Given the description of an element on the screen output the (x, y) to click on. 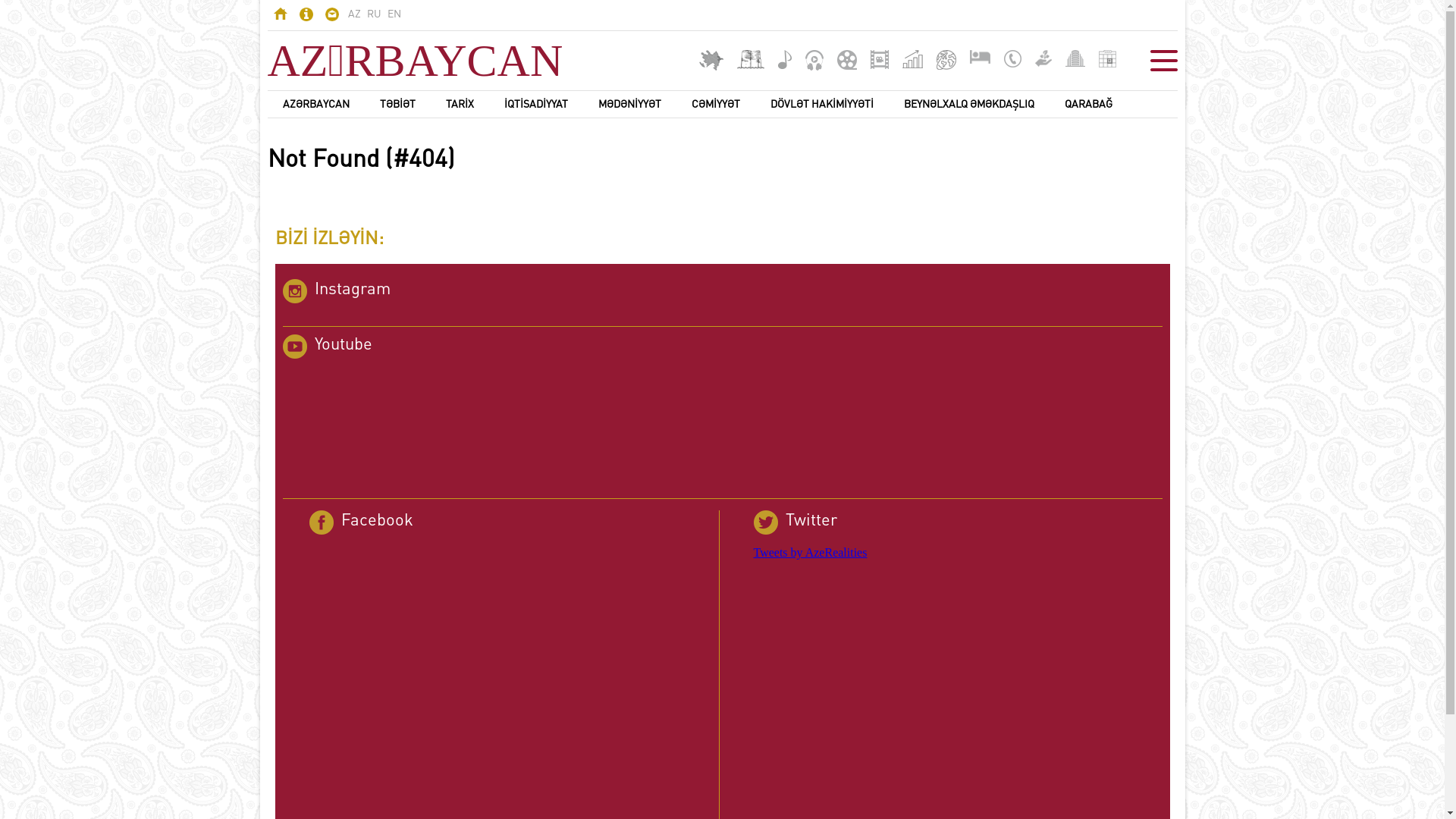
Mehmanxanalar Element type: hover (979, 56)
AZ Element type: text (353, 14)
RU Element type: text (374, 14)
Musiqi Element type: hover (784, 59)
Bayramlar Element type: hover (1106, 58)
Audio kitablar Element type: hover (814, 60)
Tweets by AzeRealities Element type: text (810, 552)
Turizm Element type: hover (945, 59)
EN Element type: text (393, 14)
